Given the description of an element on the screen output the (x, y) to click on. 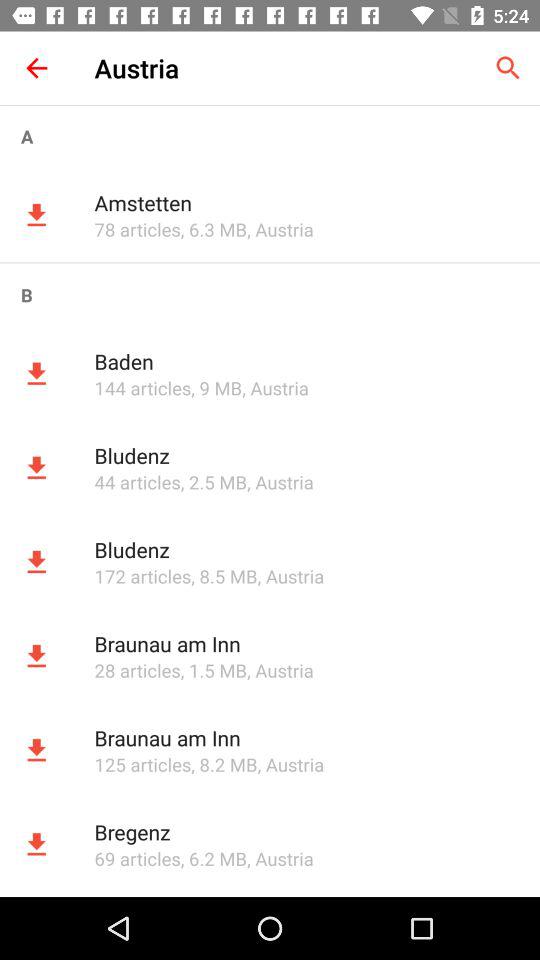
tap icon above amstetten icon (270, 136)
